Given the description of an element on the screen output the (x, y) to click on. 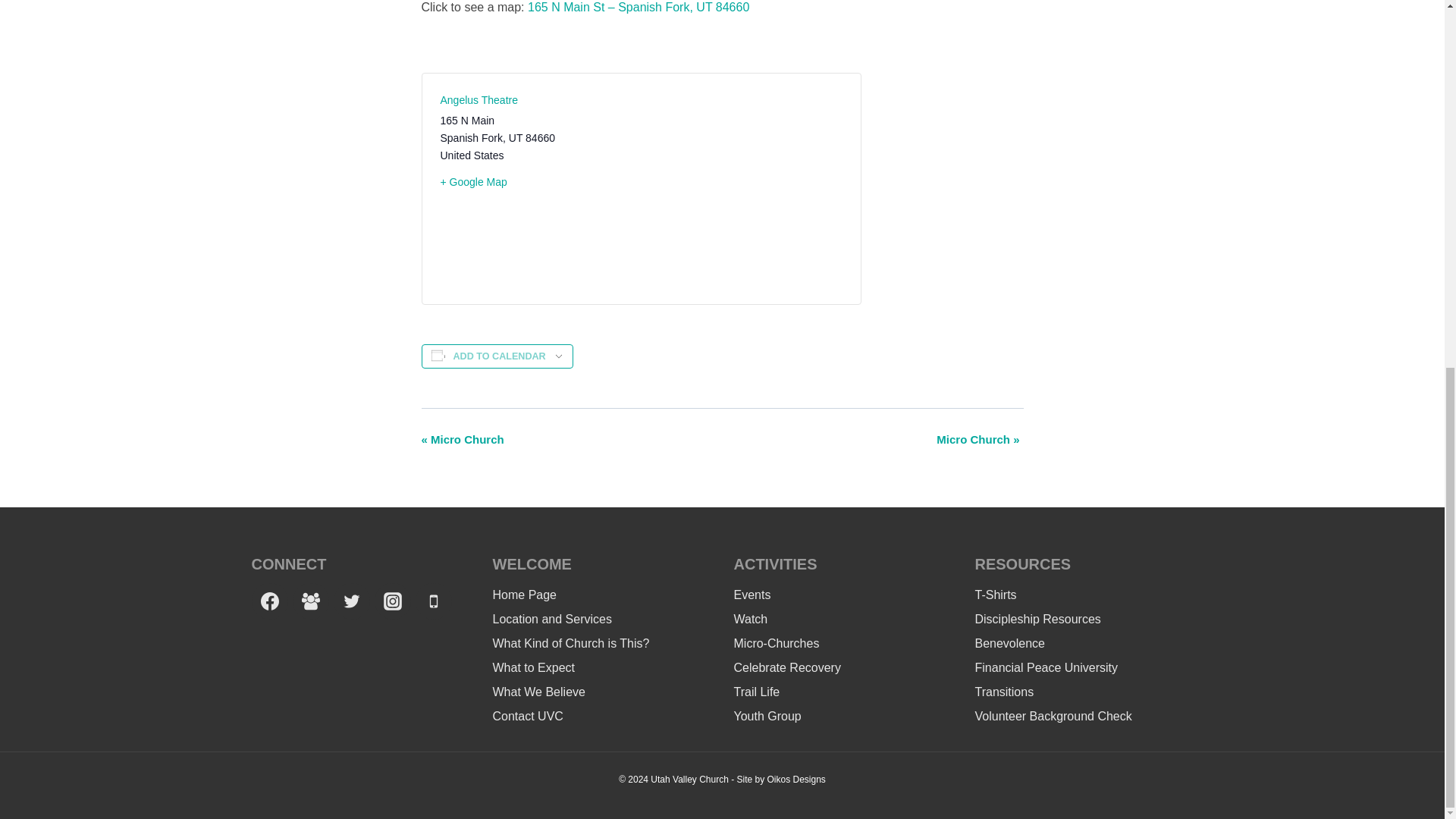
Location and Services (602, 619)
What to Expect (602, 668)
Angelus Theatre (477, 100)
Utah (515, 137)
ADD TO CALENDAR (499, 356)
Angelus Theatre (477, 100)
What We Believe (602, 692)
Click to view a Google Map (533, 181)
What Kind of Church is This? (602, 643)
Contact UVC (602, 716)
Home Page (602, 595)
